Given the description of an element on the screen output the (x, y) to click on. 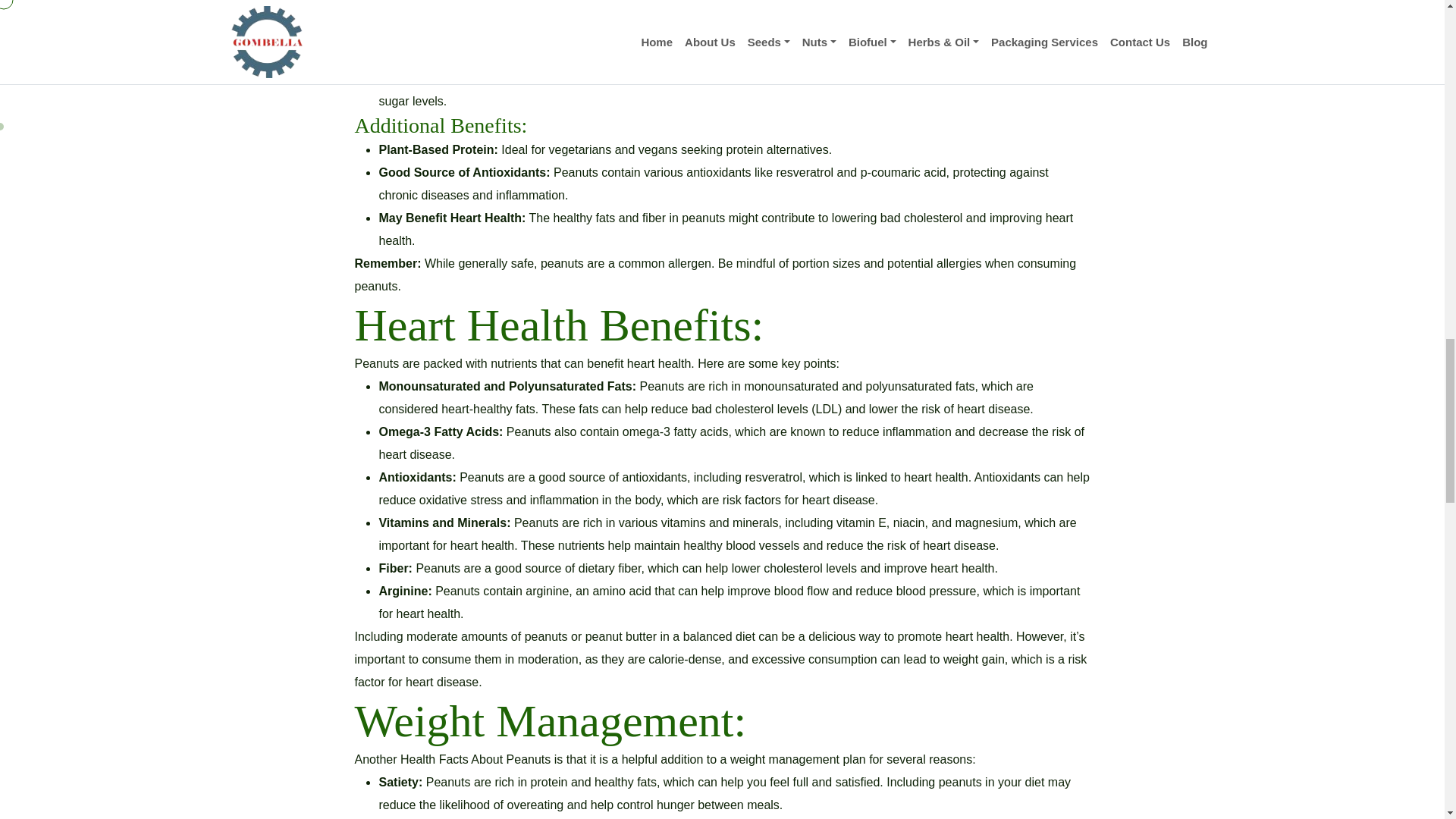
cholesterol levels (761, 408)
